Given the description of an element on the screen output the (x, y) to click on. 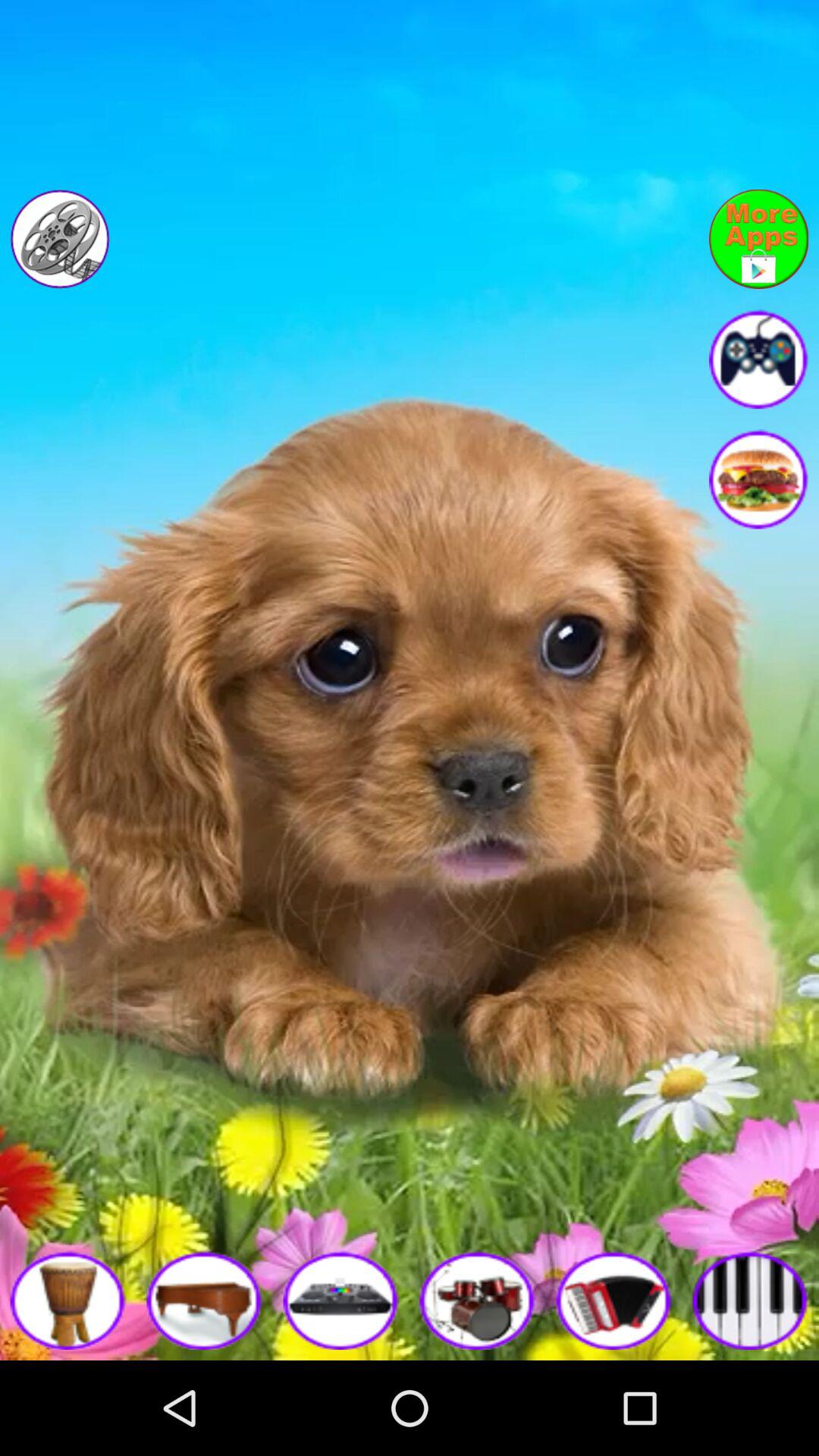
play music (750, 1300)
